Given the description of an element on the screen output the (x, y) to click on. 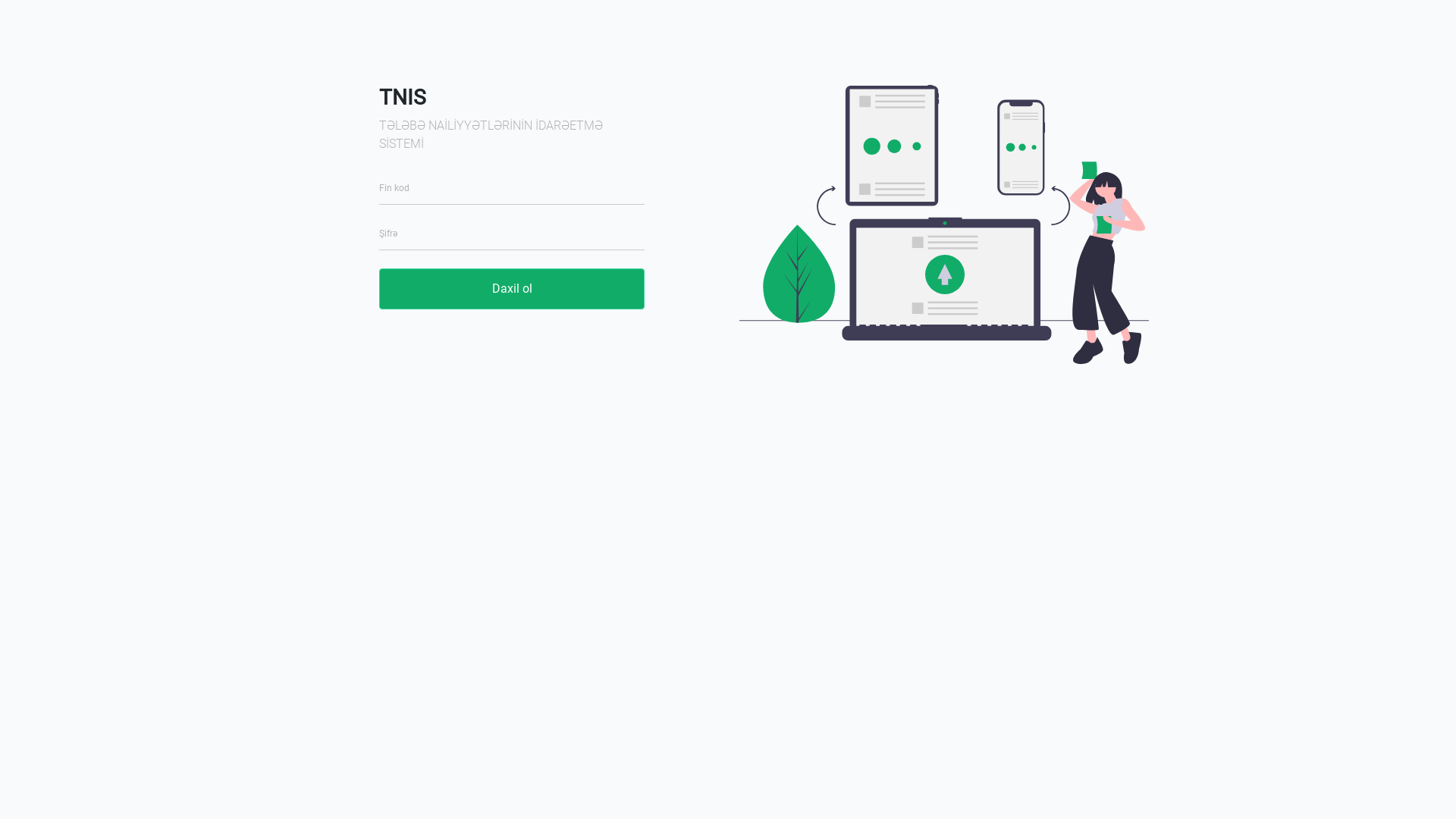
Daxil ol Element type: text (511, 288)
